Given the description of an element on the screen output the (x, y) to click on. 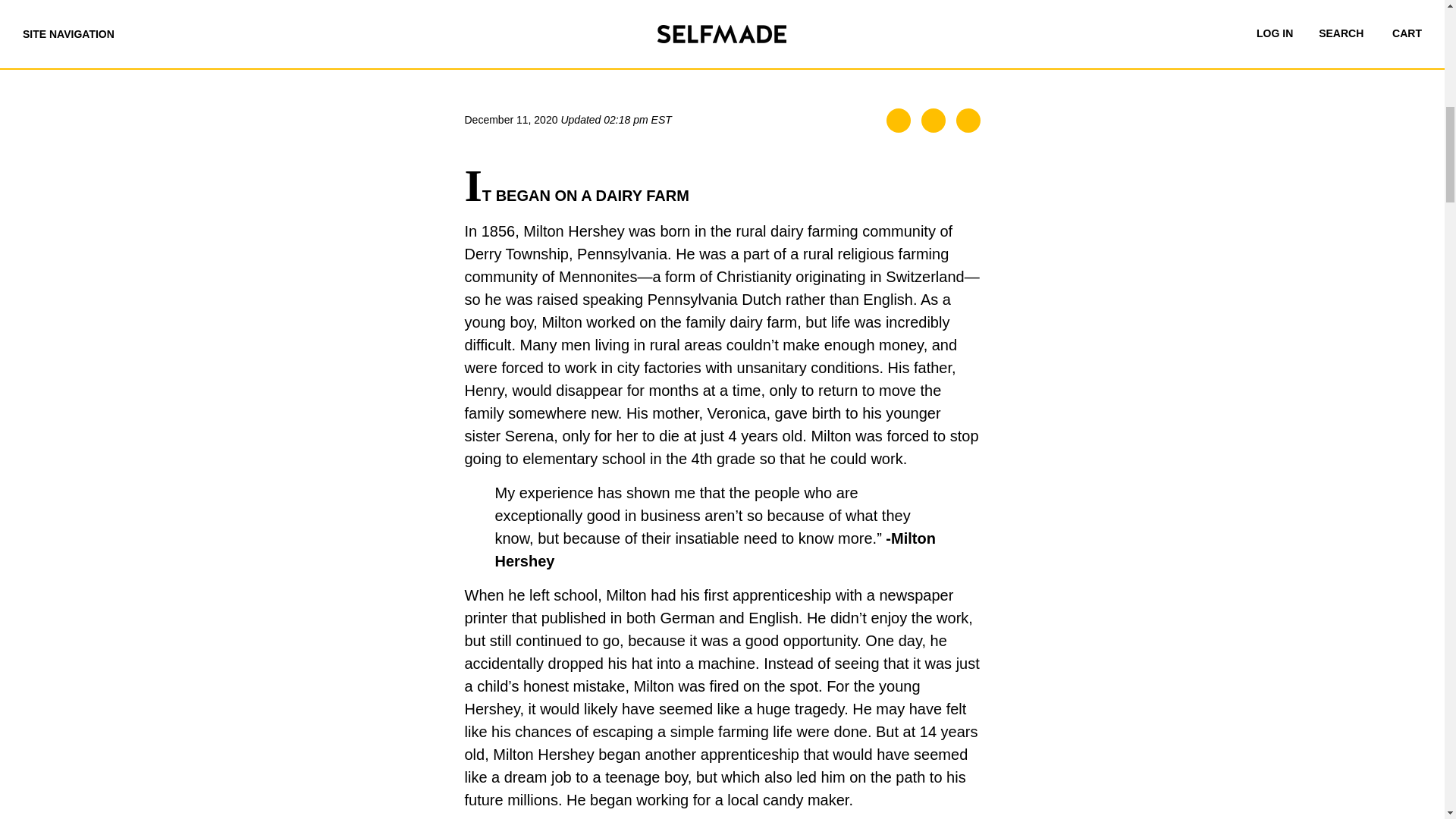
Tweet on Twitter (932, 120)
Share on Mail (967, 120)
Share on Facebook (898, 120)
Tweet on Twitter (932, 120)
Share on Facebook (898, 120)
Share on Mail (967, 120)
